Given the description of an element on the screen output the (x, y) to click on. 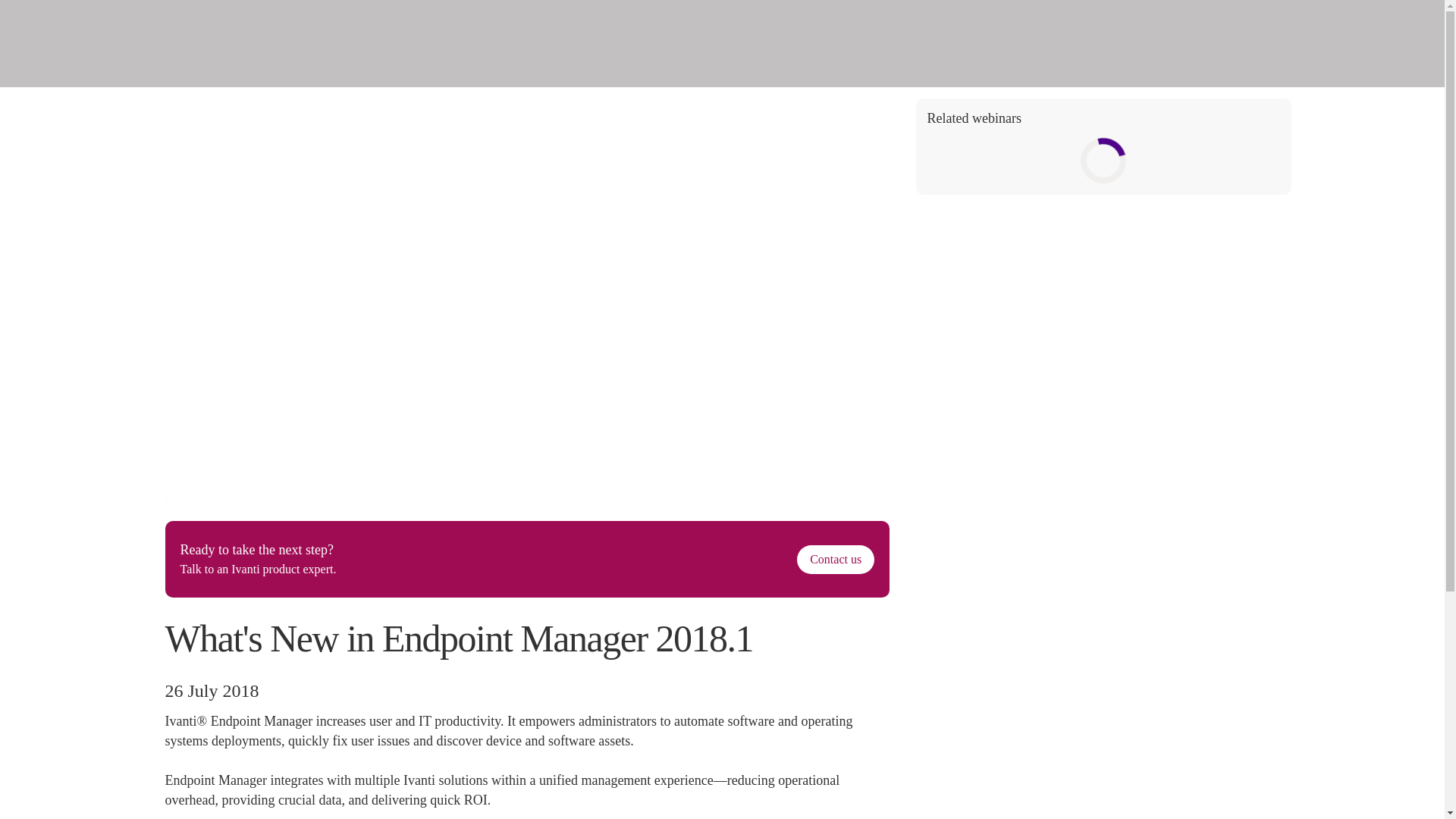
Contact us (835, 559)
